Given the description of an element on the screen output the (x, y) to click on. 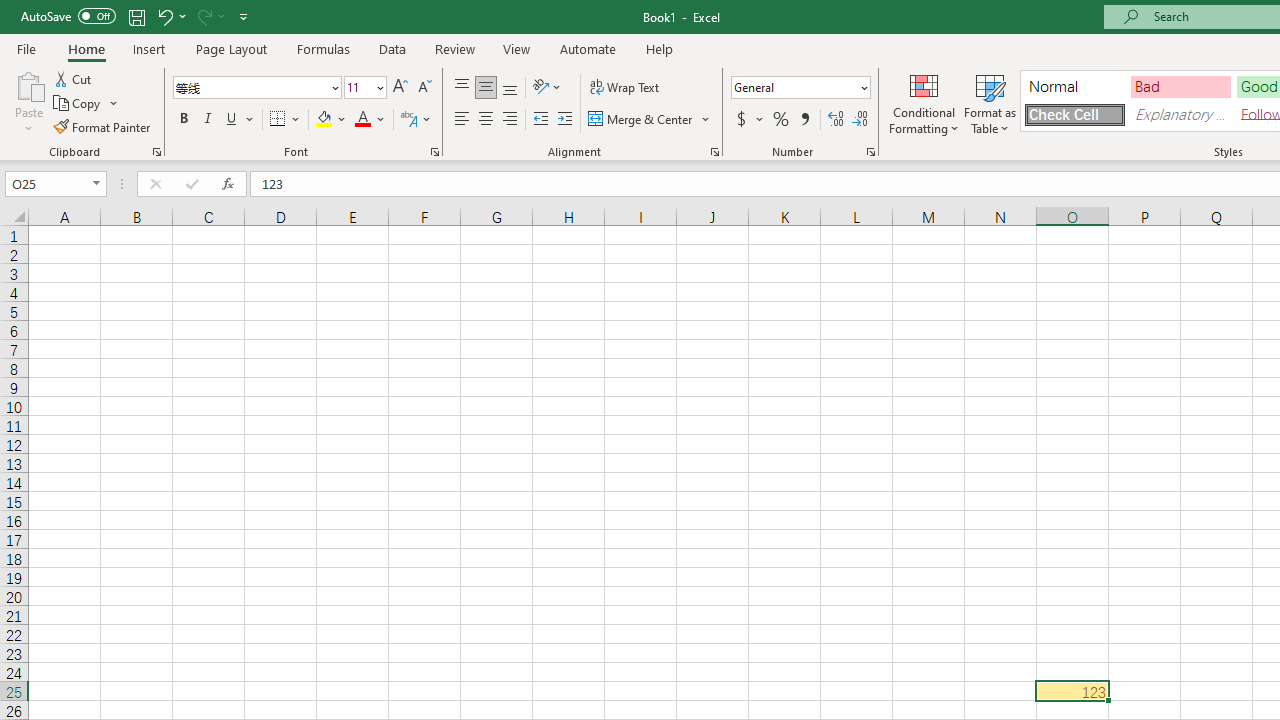
Undo (164, 15)
System (10, 11)
Orientation (547, 87)
Merge & Center (649, 119)
Font Color (370, 119)
Fill Color RGB(255, 255, 0) (324, 119)
Format as Table (990, 102)
Bottom Align (509, 87)
Explanatory Text (1180, 114)
Show Phonetic Field (408, 119)
Borders (285, 119)
Bold (183, 119)
Accounting Number Format (741, 119)
Page Layout (230, 48)
Help (660, 48)
